Given the description of an element on the screen output the (x, y) to click on. 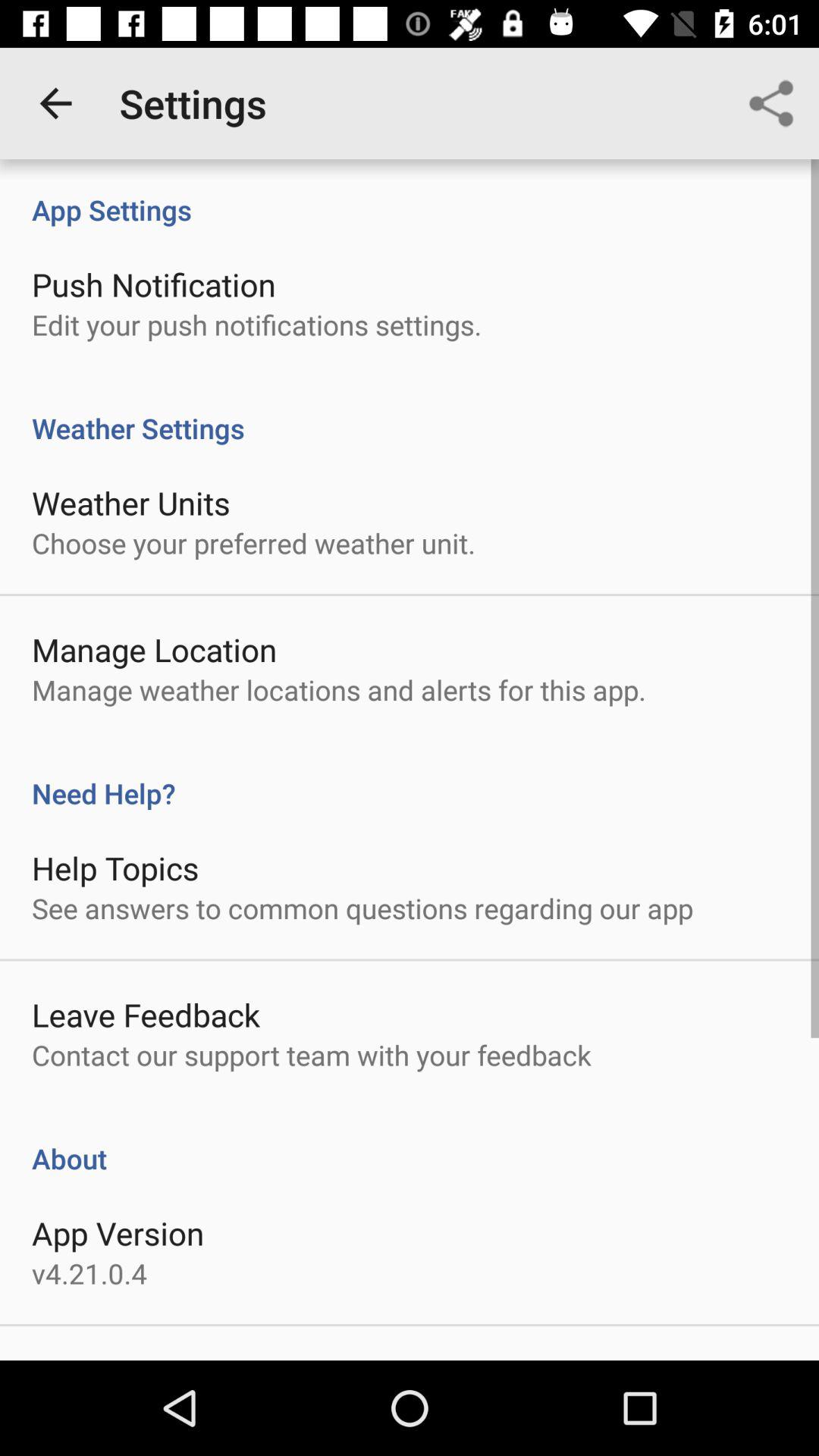
choose the item to the right of the settings (771, 103)
